Given the description of an element on the screen output the (x, y) to click on. 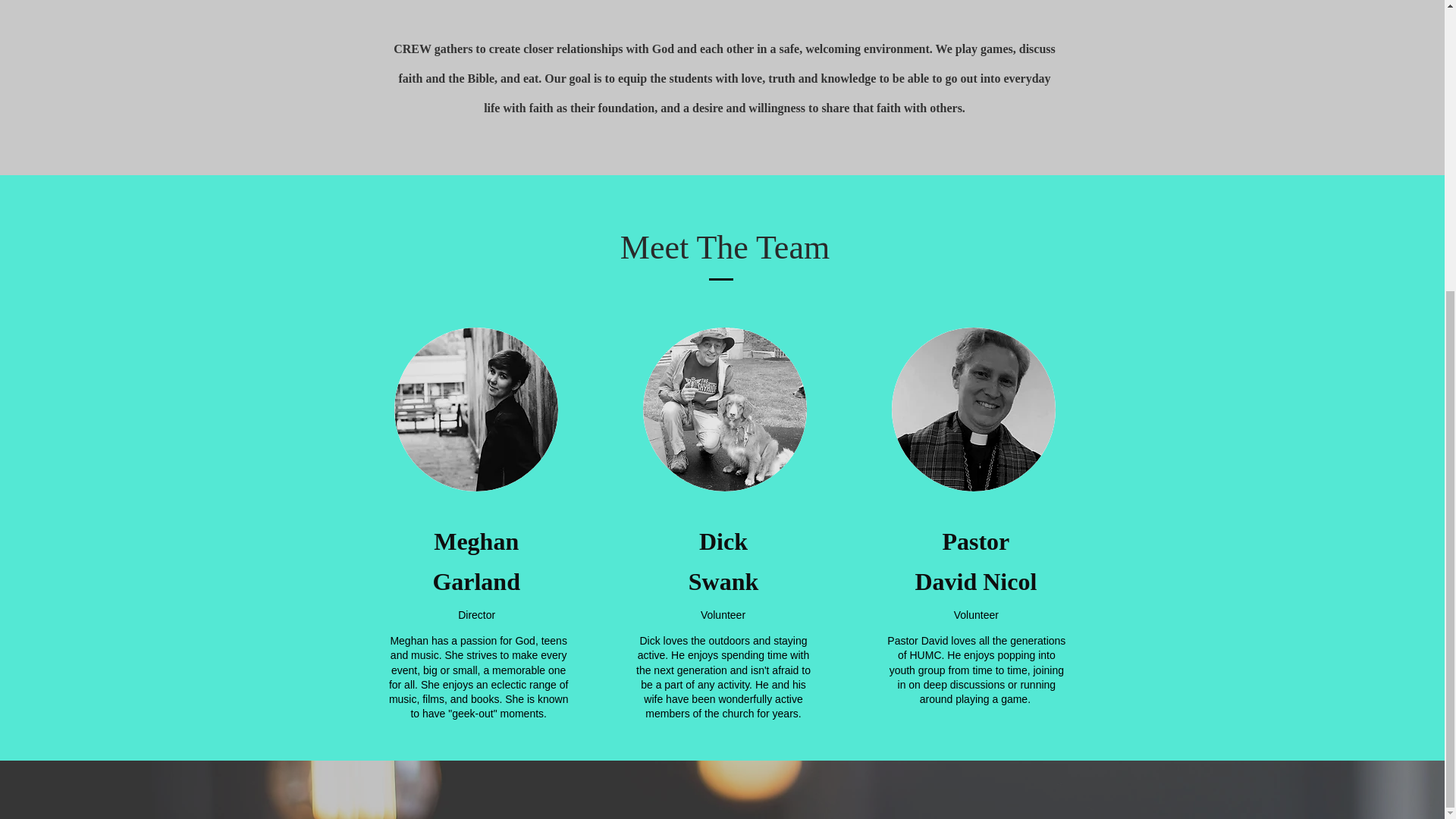
guy2.jpg (973, 409)
guy2.jpg (724, 409)
guy2.jpg (475, 409)
